Given the description of an element on the screen output the (x, y) to click on. 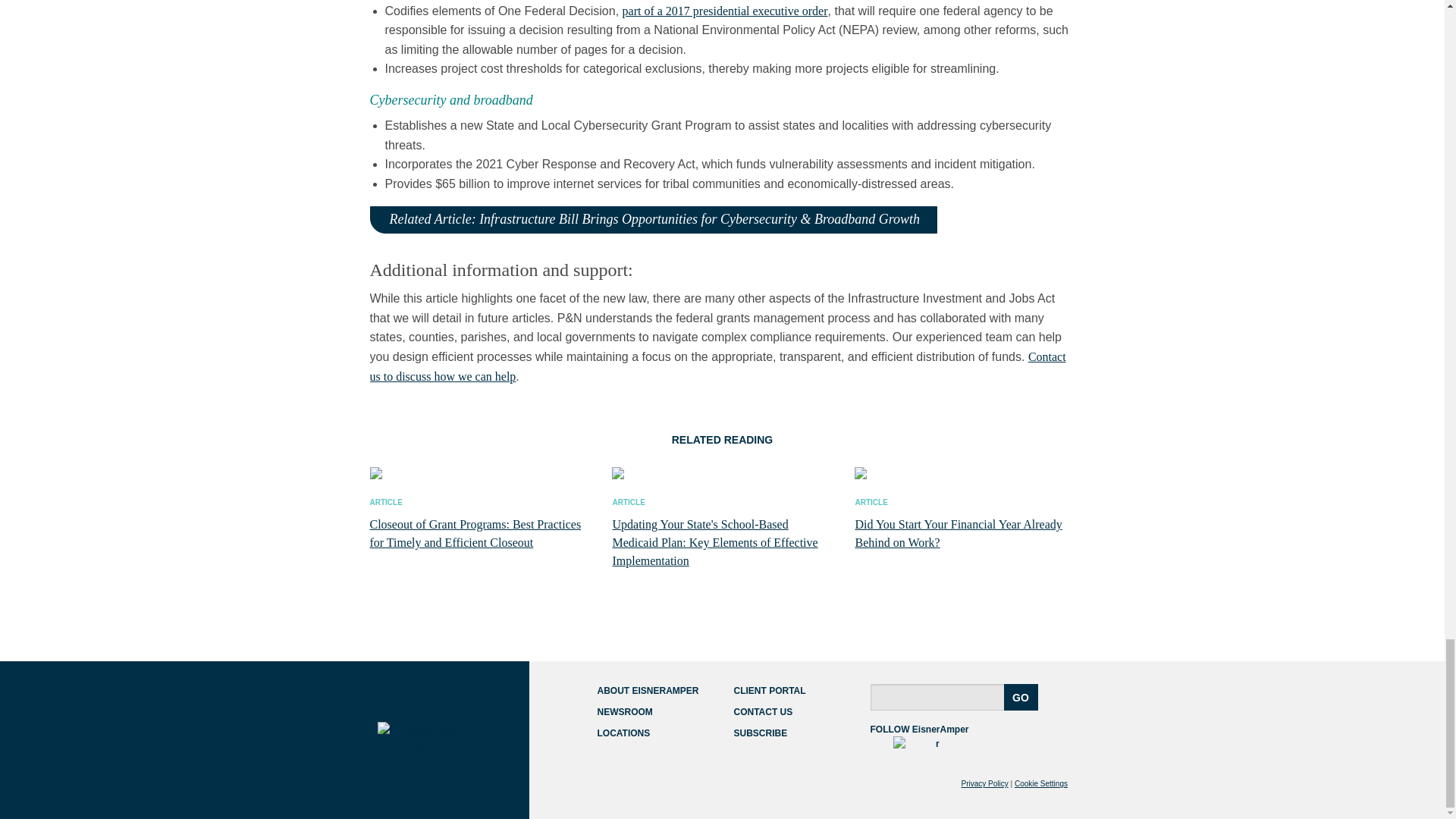
Go (1021, 696)
